Given the description of an element on the screen output the (x, y) to click on. 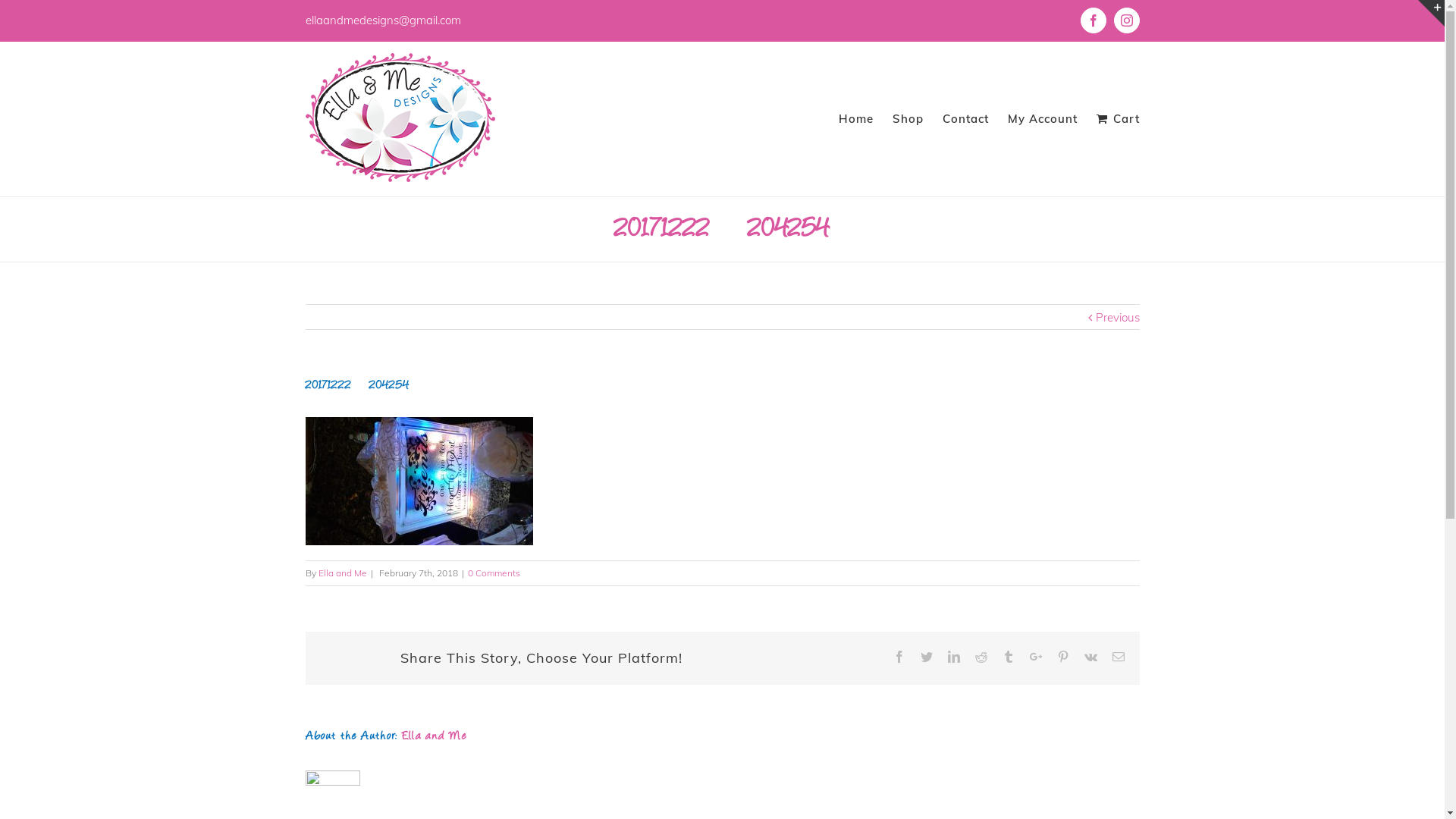
My Account Element type: text (1042, 118)
Vk Element type: text (1090, 656)
Pinterest Element type: text (1063, 656)
ellaandmedesigns@gmail.com Element type: text (382, 19)
Facebook Element type: text (1092, 20)
Tumblr Element type: text (1008, 656)
Twitter Element type: text (926, 656)
Ella and Me Element type: text (433, 736)
Shop Element type: text (907, 118)
Home Element type: text (855, 118)
Reddit Element type: text (981, 656)
0 Comments Element type: text (493, 572)
Facebook Element type: text (899, 656)
Contact Element type: text (965, 118)
Google+ Element type: text (1035, 656)
Cart Element type: text (1117, 118)
Previous Element type: text (1117, 317)
Email Element type: text (1117, 656)
Instagram Element type: text (1126, 20)
Ella and Me Element type: text (342, 572)
Linkedin Element type: text (953, 656)
